Given the description of an element on the screen output the (x, y) to click on. 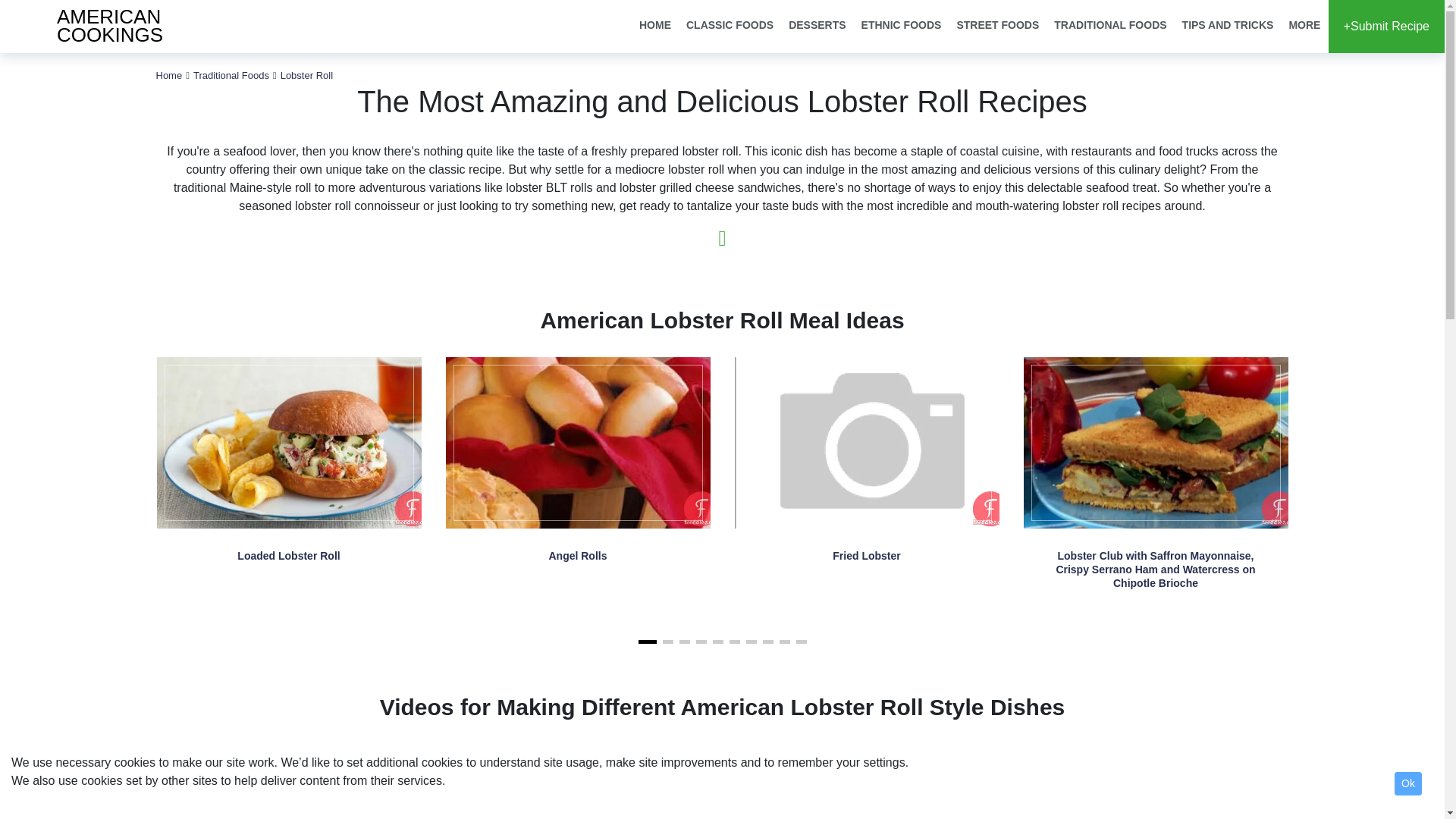
TIPS AND TRICKS (101, 26)
ETHNIC FOODS (1228, 25)
Traditional Foods (901, 25)
Lobster Roll (231, 75)
DESSERTS (307, 75)
CLASSIC FOODS (817, 25)
TRADITIONAL FOODS (729, 25)
Home (1110, 25)
STREET FOODS (169, 75)
Read more (997, 25)
